Given the description of an element on the screen output the (x, y) to click on. 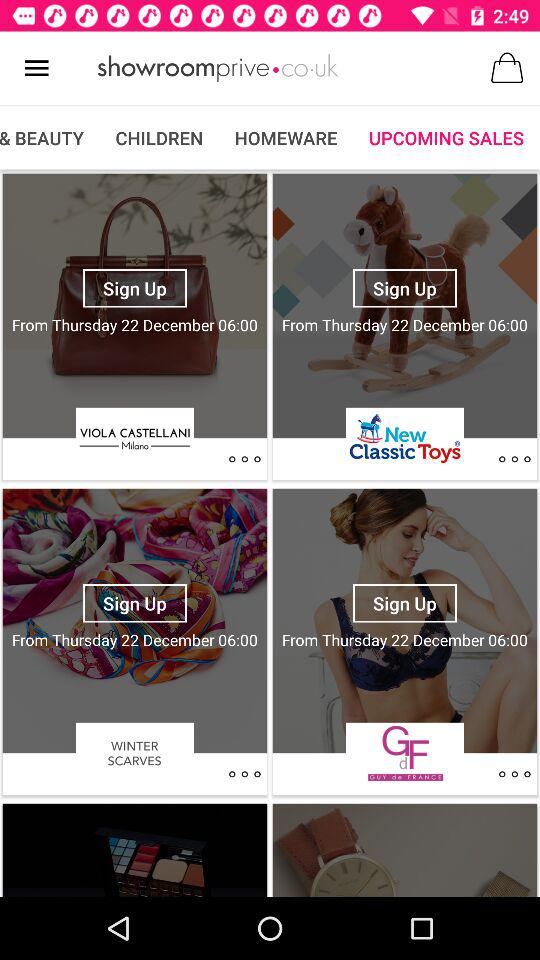
overflow menu (244, 459)
